Given the description of an element on the screen output the (x, y) to click on. 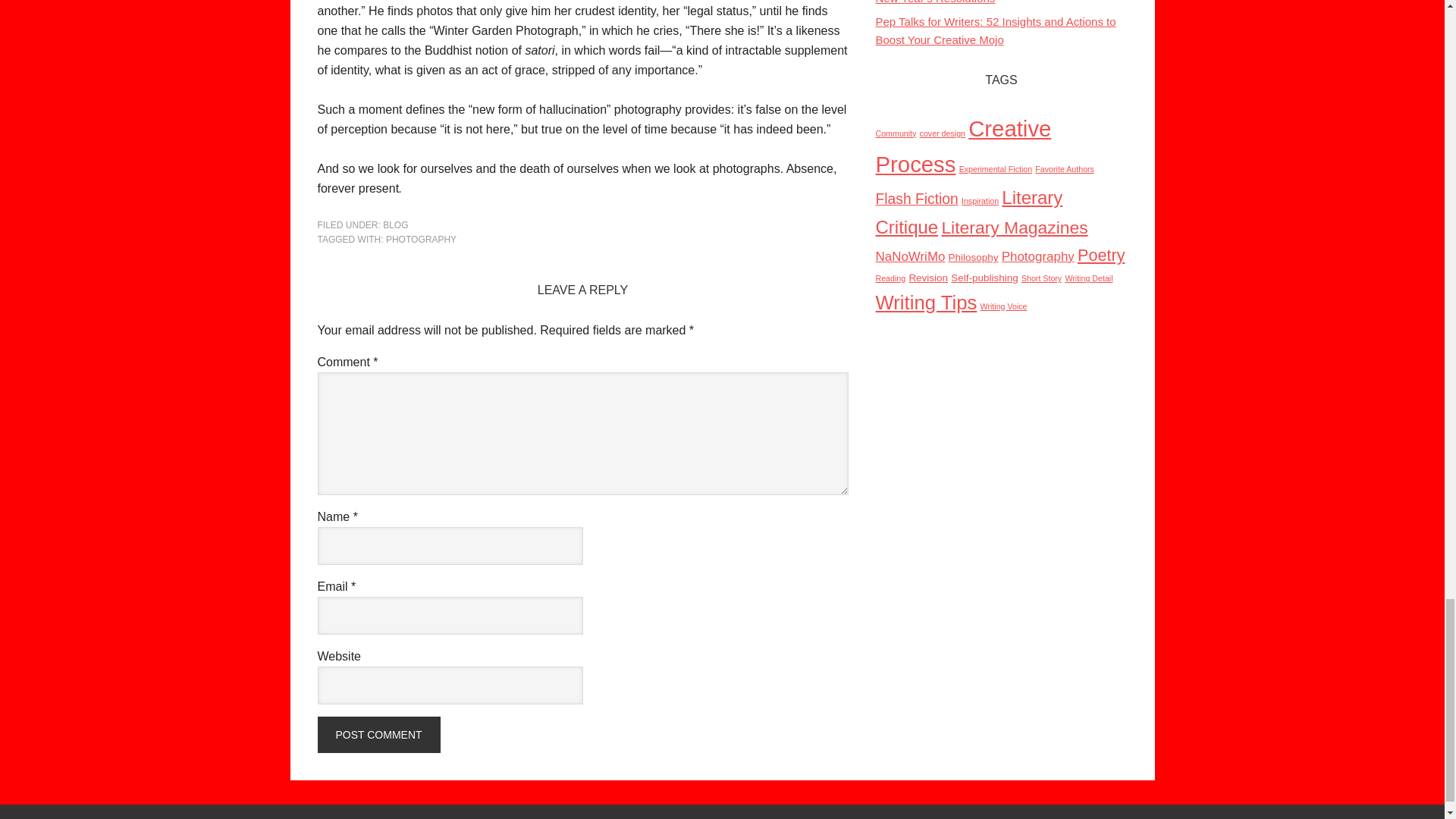
Post Comment (378, 734)
PHOTOGRAPHY (421, 239)
Post Comment (378, 734)
BLOG (394, 225)
